Given the description of an element on the screen output the (x, y) to click on. 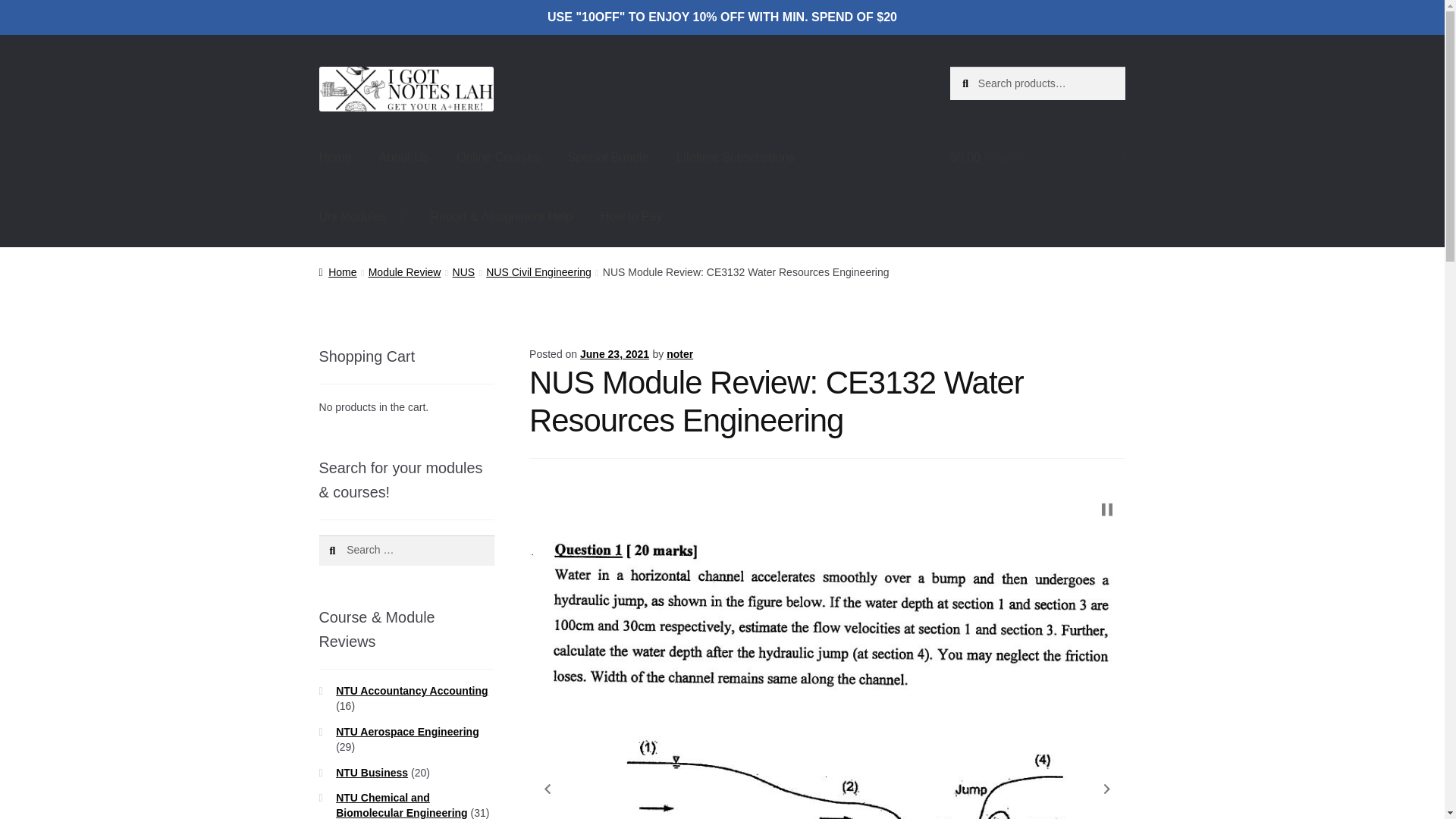
Online Courses (497, 157)
Module Review (404, 272)
How to Pay (631, 216)
Special Bundle (608, 157)
NUS Civil Engineering (538, 272)
View your shopping cart (1037, 157)
Home (335, 157)
noter (679, 354)
NUS (464, 272)
Lifetime Subscriptions (735, 157)
About Us (403, 157)
